Given the description of an element on the screen output the (x, y) to click on. 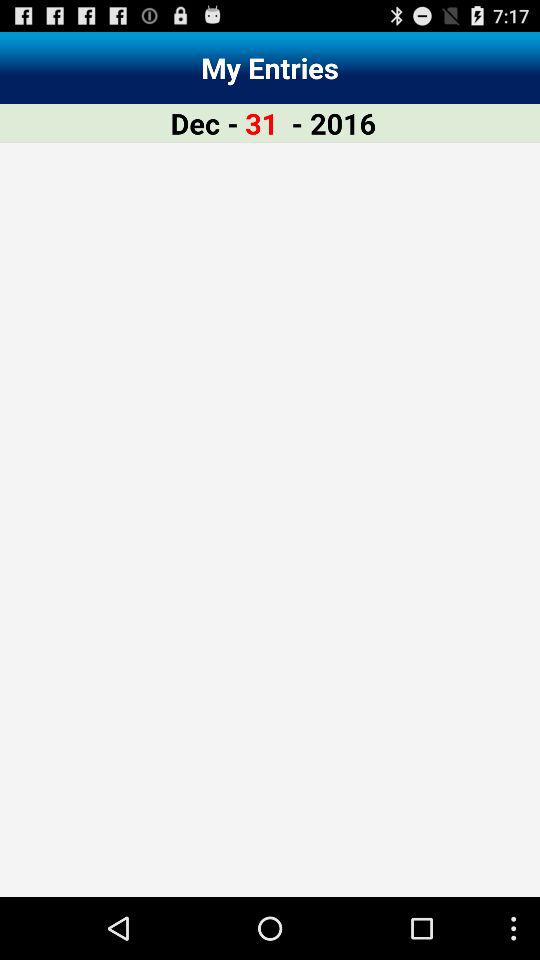
press - 2016 icon (333, 122)
